Given the description of an element on the screen output the (x, y) to click on. 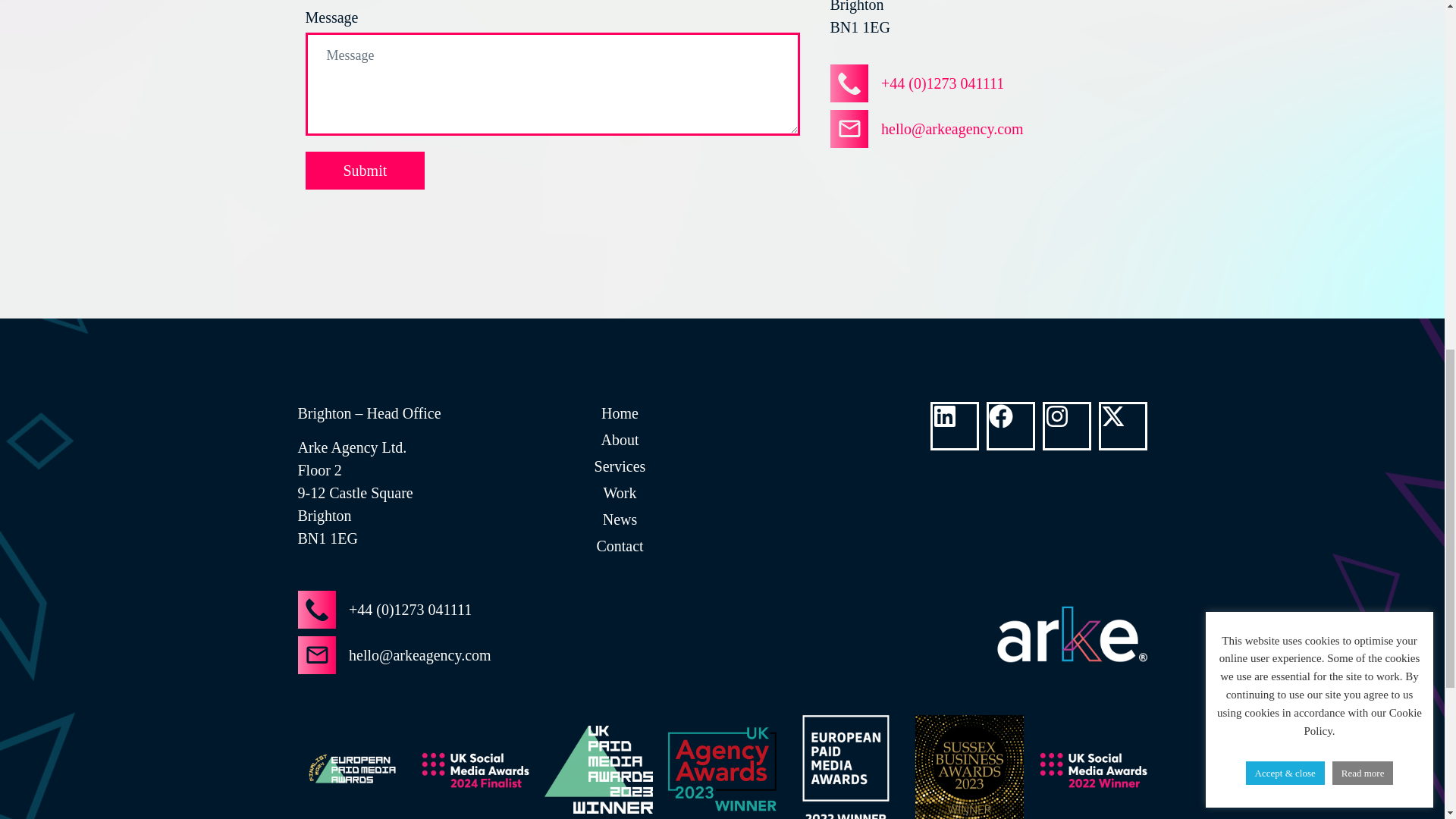
Submit (364, 170)
Services (619, 466)
About (619, 439)
Contact (619, 545)
Work (619, 492)
Home (619, 413)
News (619, 518)
